Given the description of an element on the screen output the (x, y) to click on. 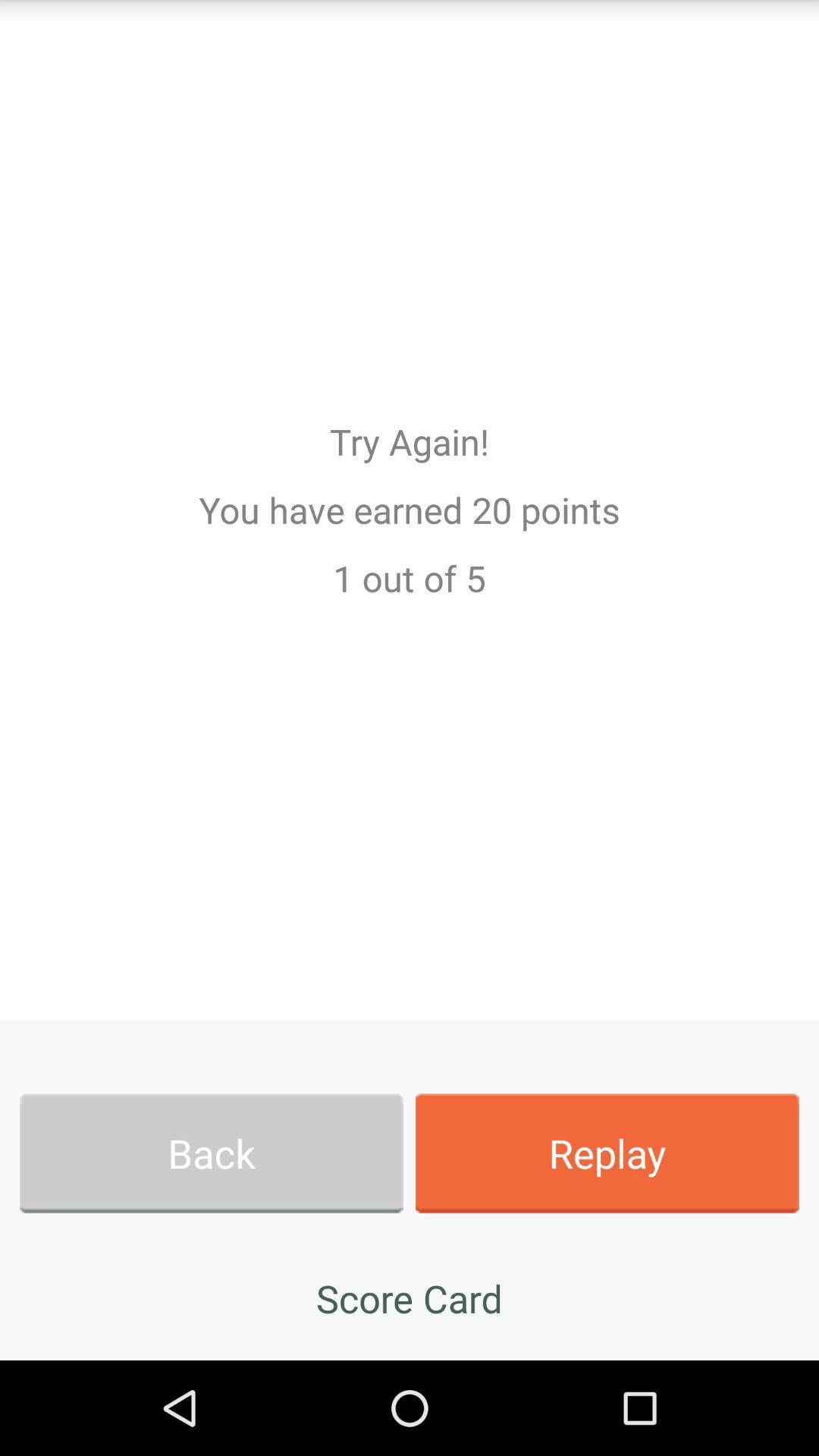
scroll until the back app (211, 1153)
